Given the description of an element on the screen output the (x, y) to click on. 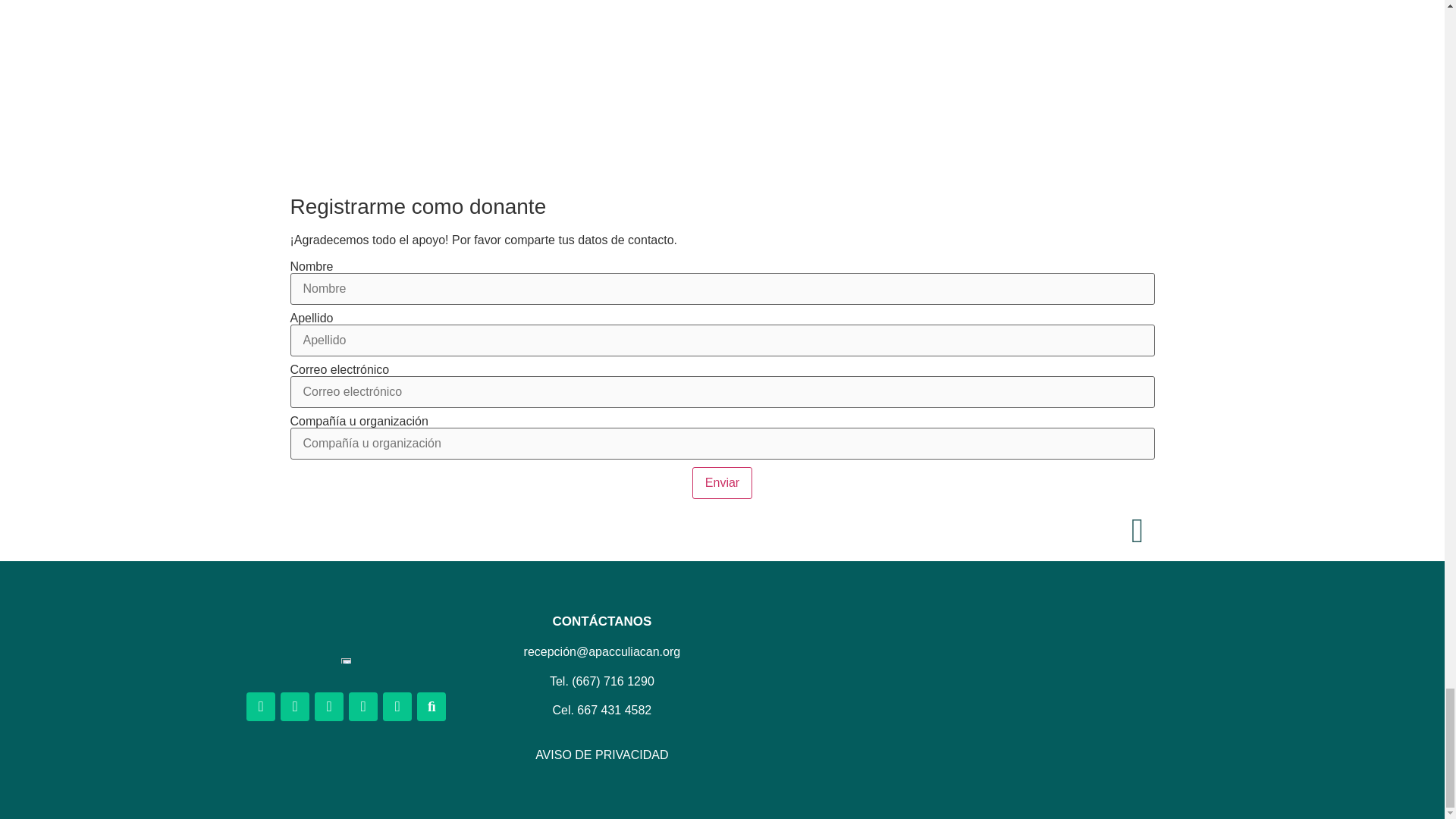
Enviar (722, 482)
AVISO DE PRIVACIDAD (601, 755)
